Given the description of an element on the screen output the (x, y) to click on. 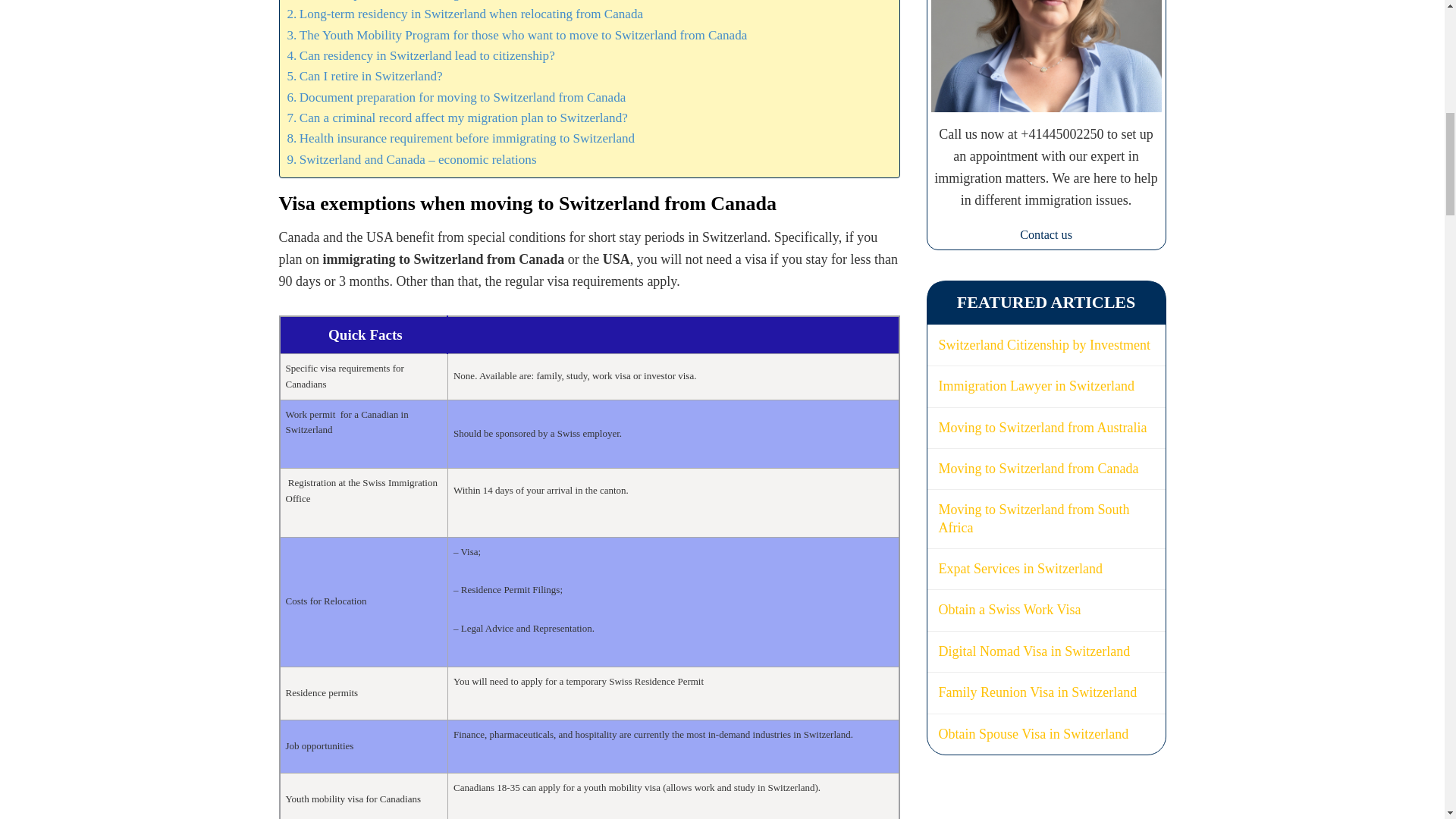
Visa exemptions when moving to Switzerland from Canada (447, 2)
Visa exemptions when moving to Switzerland from Canada (447, 2)
Document preparation for moving to Switzerland from Canada (456, 96)
Can residency in Switzerland lead to citizenship? (420, 55)
Can I retire in Switzerland? (364, 76)
Can I retire in Switzerland? (364, 76)
